Given the description of an element on the screen output the (x, y) to click on. 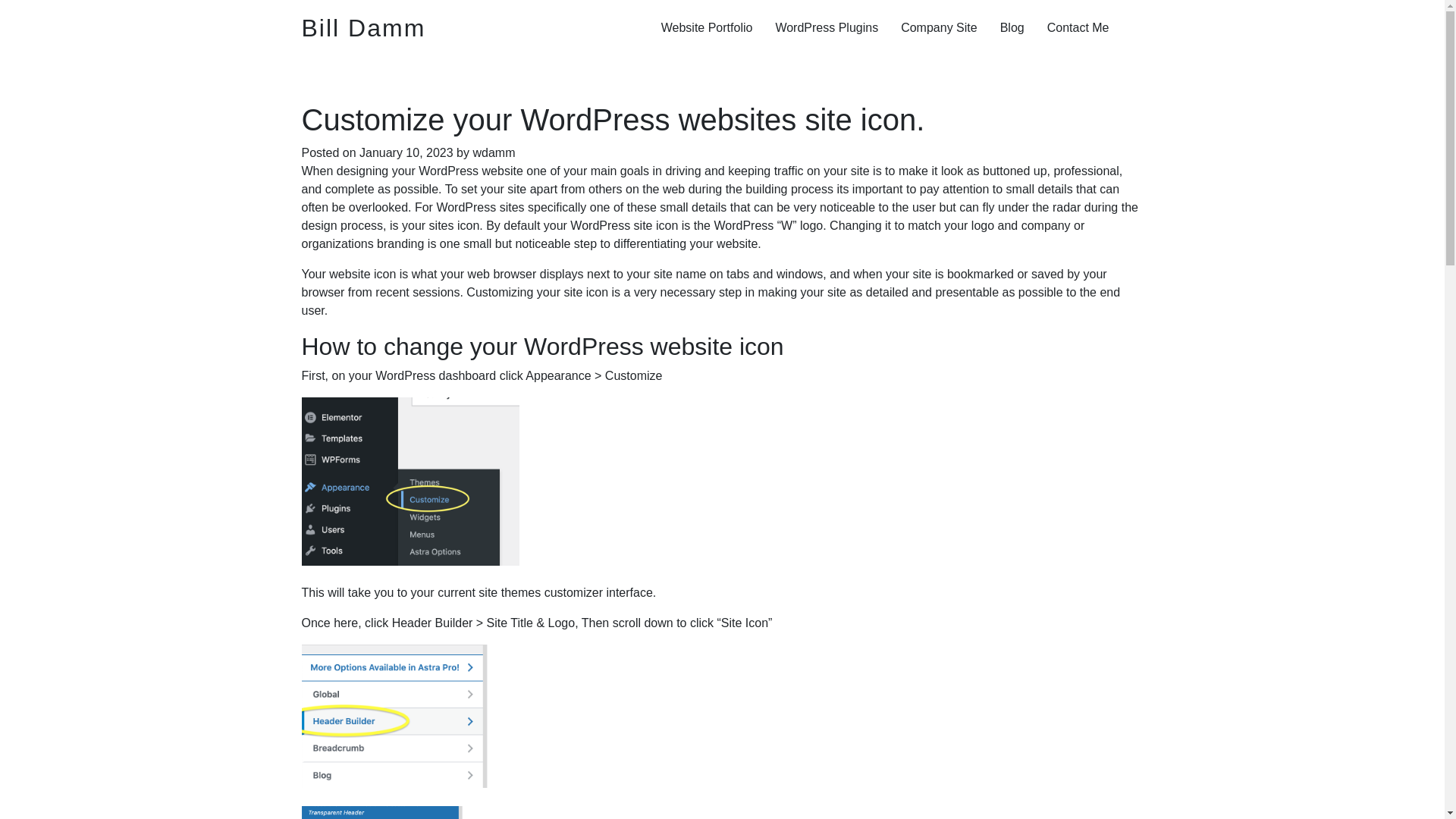
WordPress Plugins (825, 28)
Website Portfolio (706, 28)
Company Site (938, 28)
Bill Damm (363, 27)
wdamm (493, 152)
WordPress Plugins (825, 28)
Website Portfolio (706, 28)
Blog (1011, 28)
Company Site (938, 28)
Blog (1011, 28)
Contact Me (1078, 28)
January 10, 2023 (405, 152)
Contact Me (1078, 28)
